Given the description of an element on the screen output the (x, y) to click on. 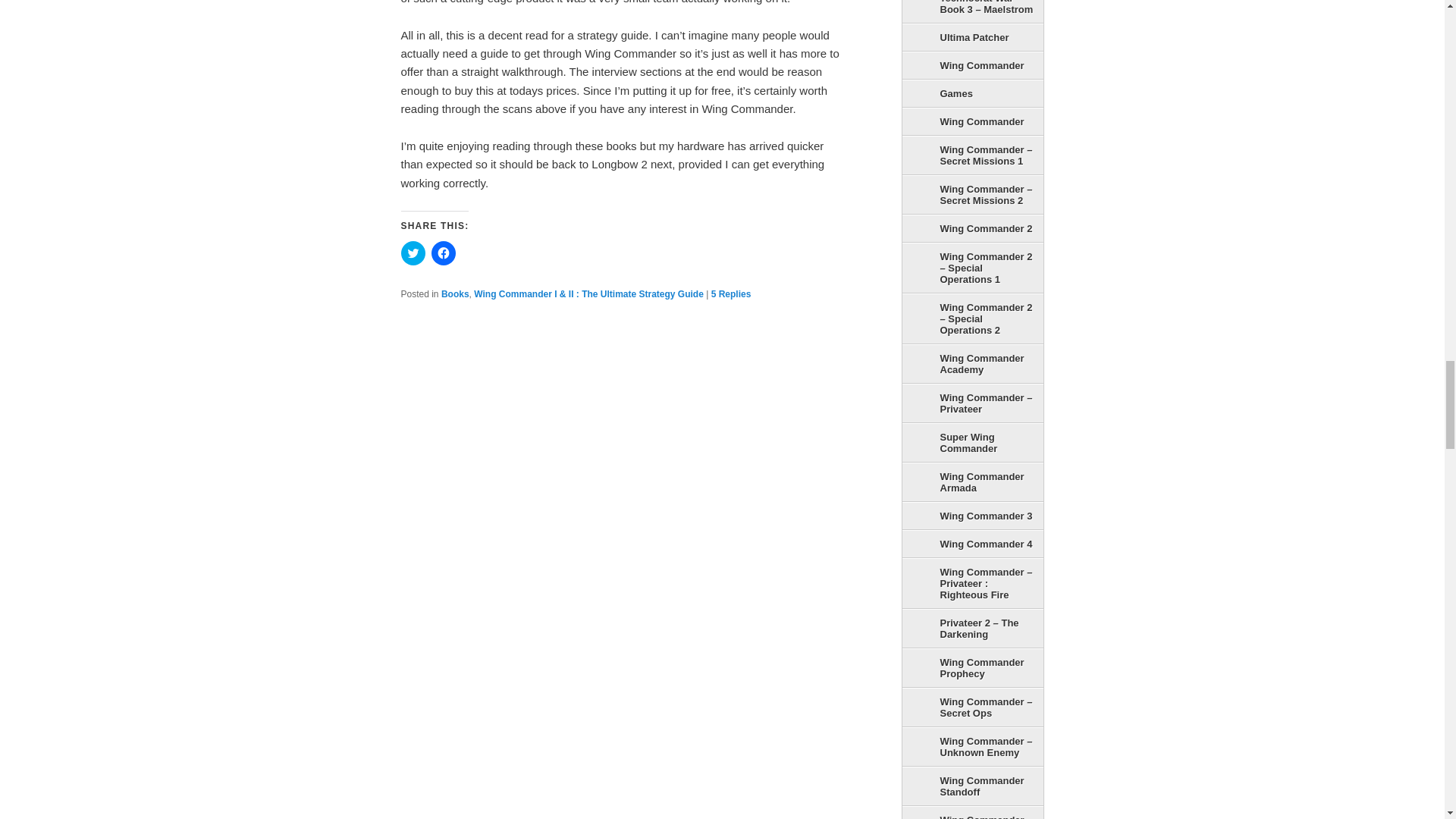
Click to share on Twitter (412, 252)
5 Replies (731, 294)
Click to share on Facebook (442, 252)
Books (454, 294)
